Given the description of an element on the screen output the (x, y) to click on. 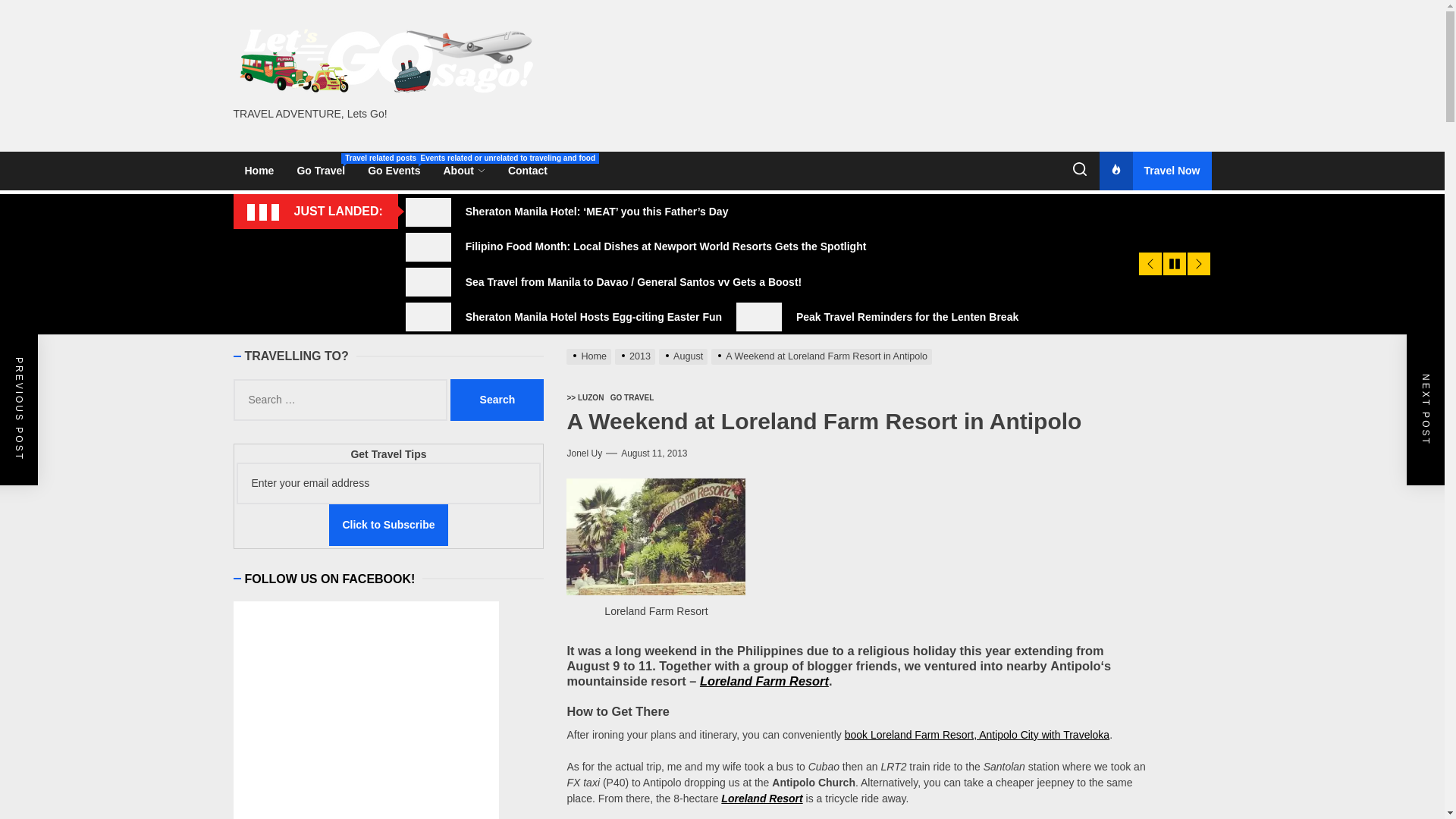
Travel Now (1154, 170)
Home (258, 170)
Peak Travel Reminders for the Lenten Break (882, 316)
Sheraton Manila Hotel Hosts Egg-citing Easter Fun (569, 316)
Search (393, 170)
Search (496, 399)
Enter your email address (496, 399)
About (388, 483)
